Given the description of an element on the screen output the (x, y) to click on. 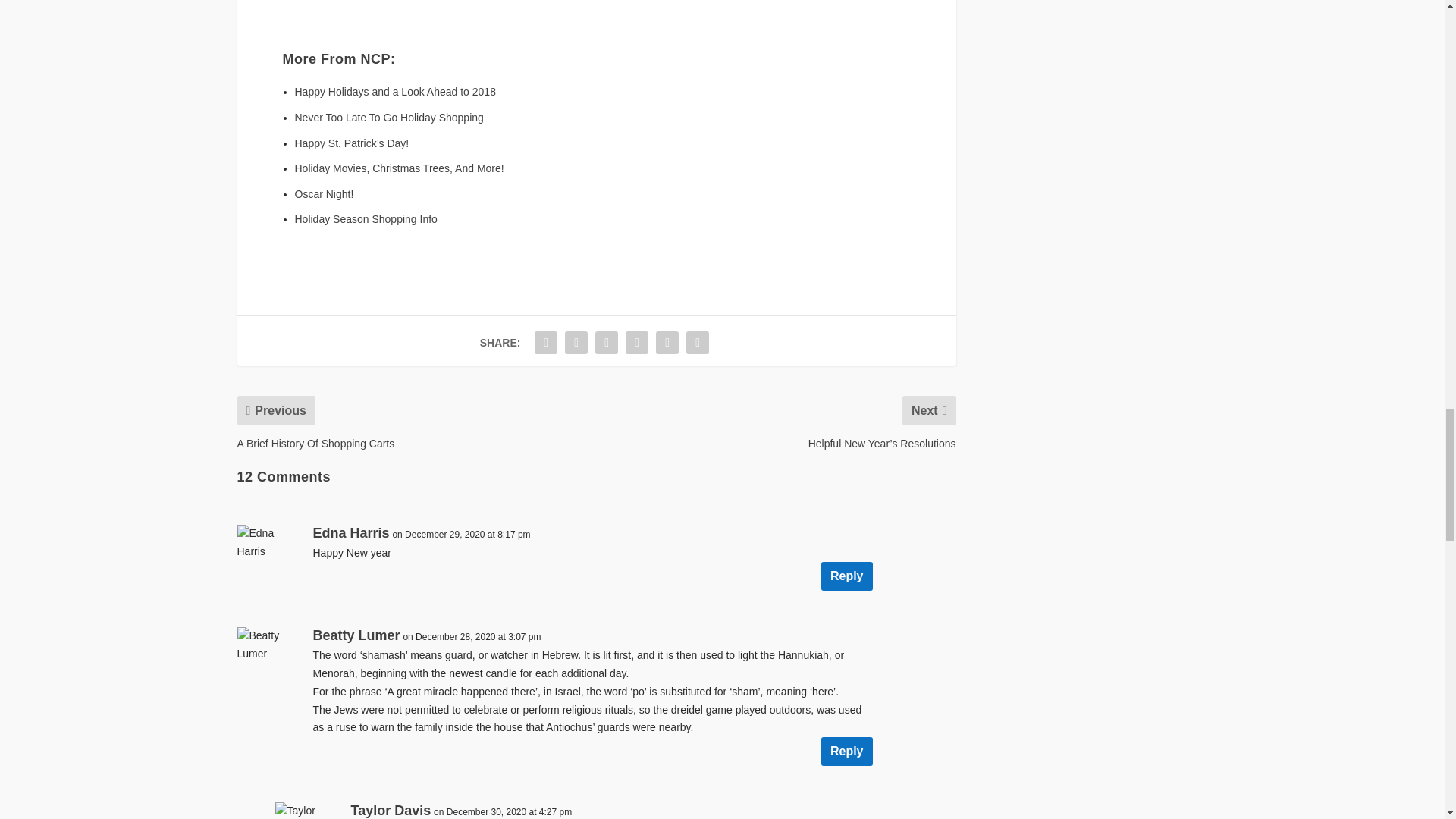
Oscar Night! (323, 193)
Holiday Season Shopping Info (365, 218)
Share "Fun Facts About The Holidays" via Facebook (545, 342)
Holiday Movies, Christmas Trees, And More! (398, 168)
Share "Fun Facts About The Holidays" via Email (667, 342)
Share "Fun Facts About The Holidays" via LinkedIn (636, 342)
Share "Fun Facts About The Holidays" via Pinterest (606, 342)
Happy Holidays and a Look Ahead to 2018 (394, 91)
Never Too Late To Go Holiday Shopping (388, 117)
Share "Fun Facts About The Holidays" via Print (697, 342)
